Given the description of an element on the screen output the (x, y) to click on. 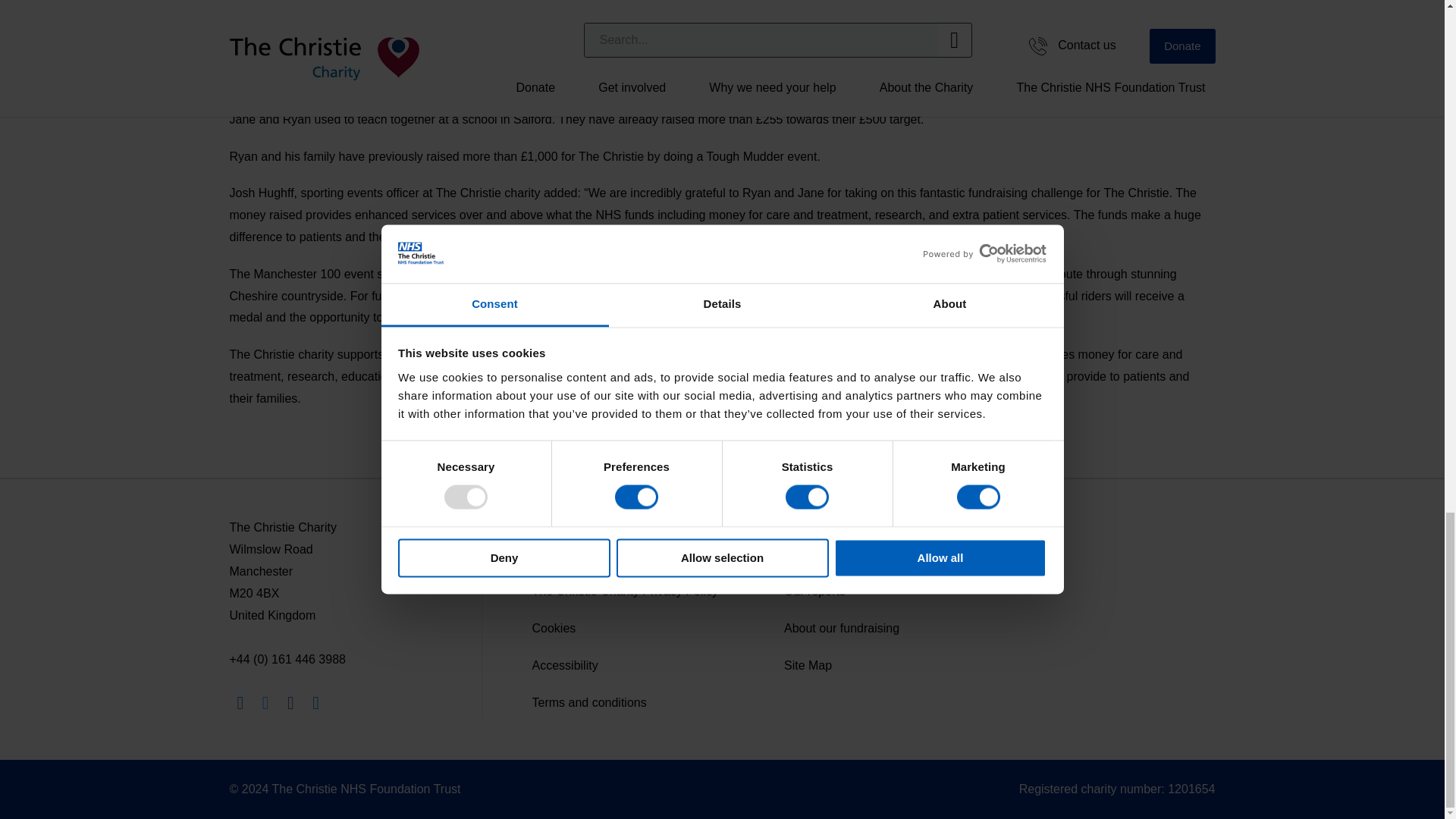
Manchester 100 (654, 295)
